Given the description of an element on the screen output the (x, y) to click on. 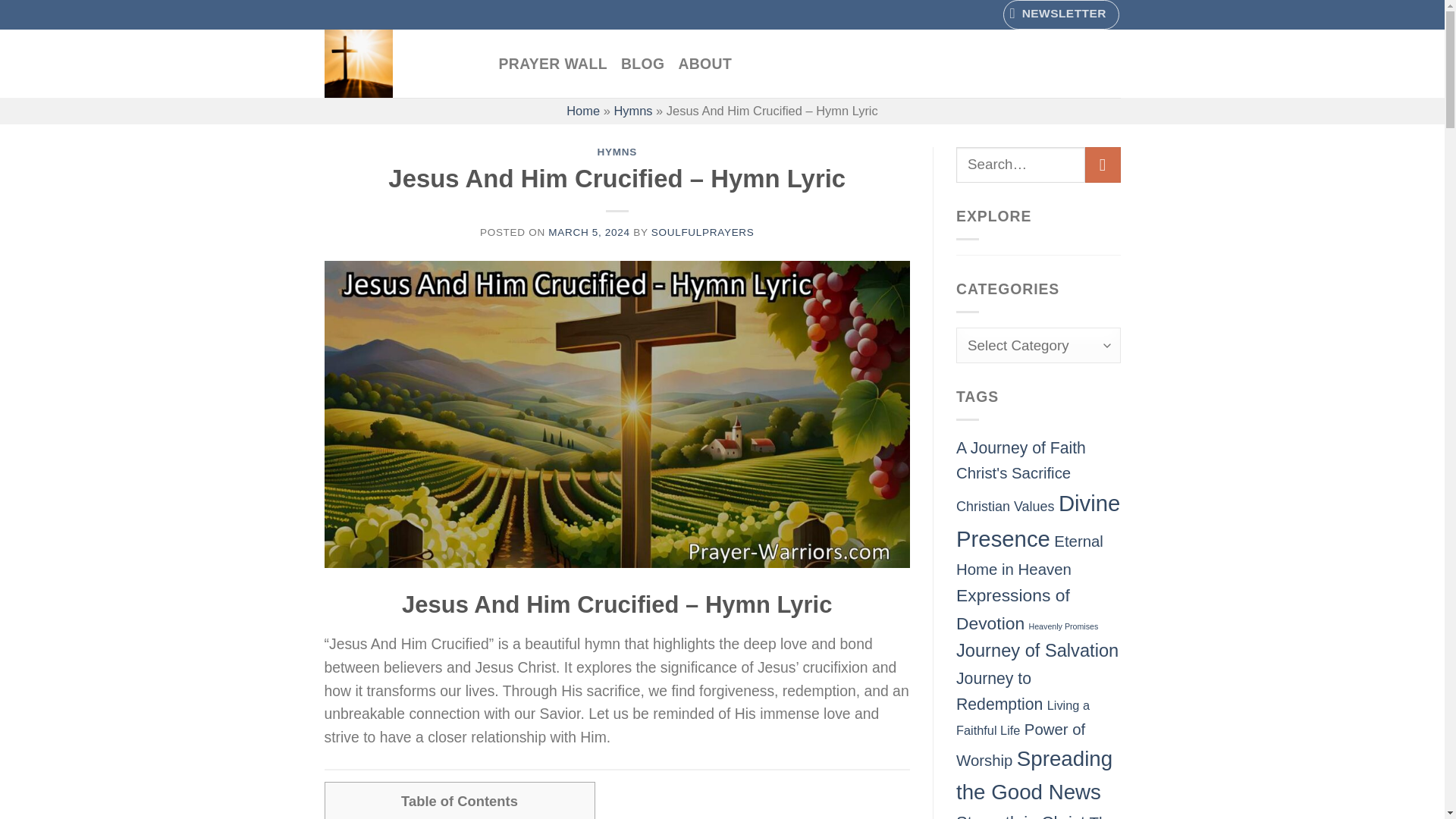
MARCH 5, 2024 (588, 232)
Christian Values (1005, 506)
NEWSLETTER (1061, 14)
BLOG (642, 62)
Christ's Sacrifice (1013, 473)
ABOUT (705, 62)
Prayer Warriors - Warriors of Faith, Soldiers of Prayer. (400, 63)
Home (582, 110)
Sign up for Newsletter (1061, 14)
PRAYER WALL (553, 62)
